Given the description of an element on the screen output the (x, y) to click on. 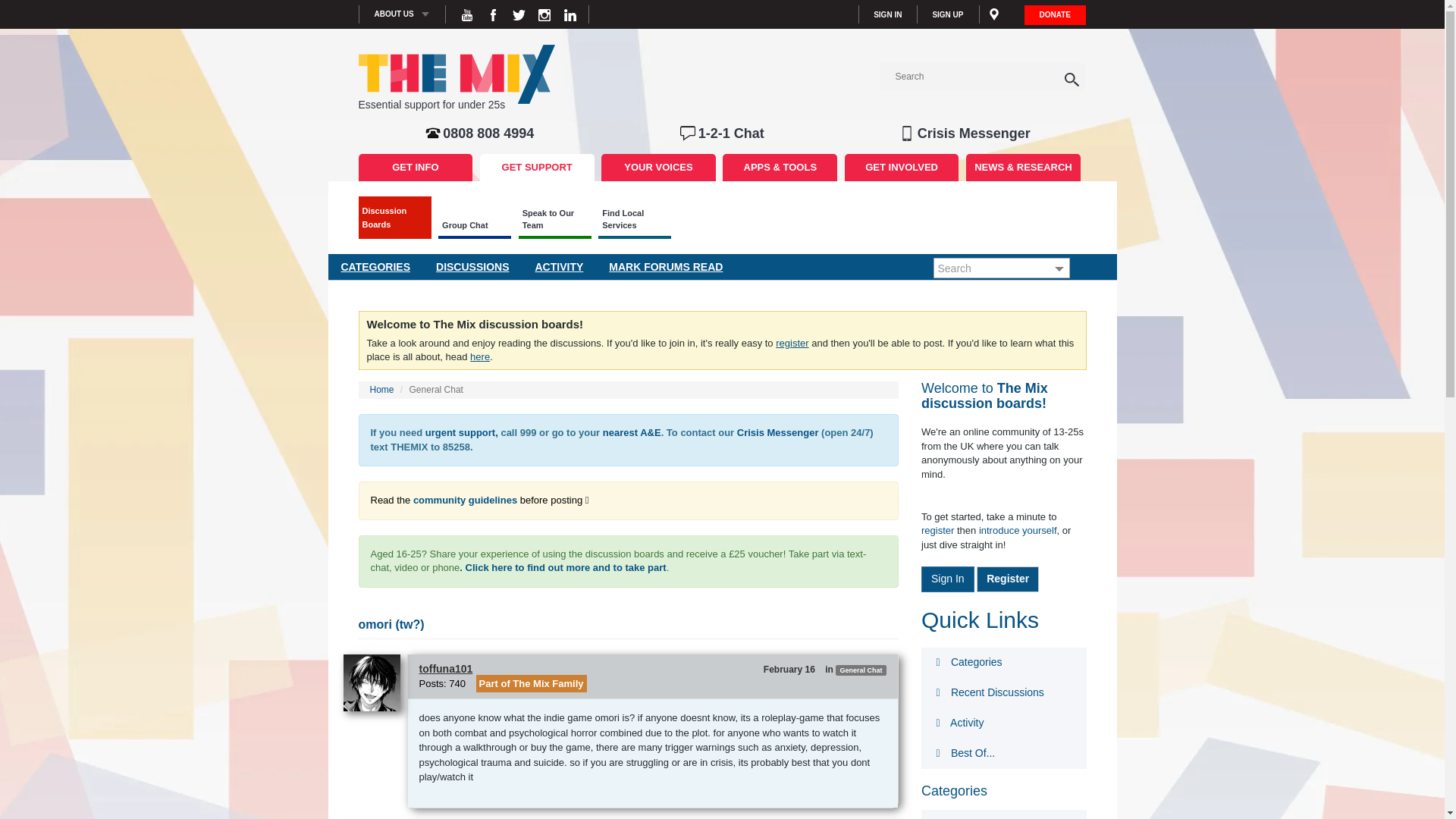
Group Chat (474, 225)
ABOUT US (401, 13)
Options (1056, 269)
0808 808 4994 (488, 133)
DONATE (1055, 14)
16 February 2024 22:33 (788, 669)
1-2-1 Chat (731, 133)
Crisis Messenger (973, 133)
GET SUPPORT (537, 166)
GET INFO (414, 166)
